Given the description of an element on the screen output the (x, y) to click on. 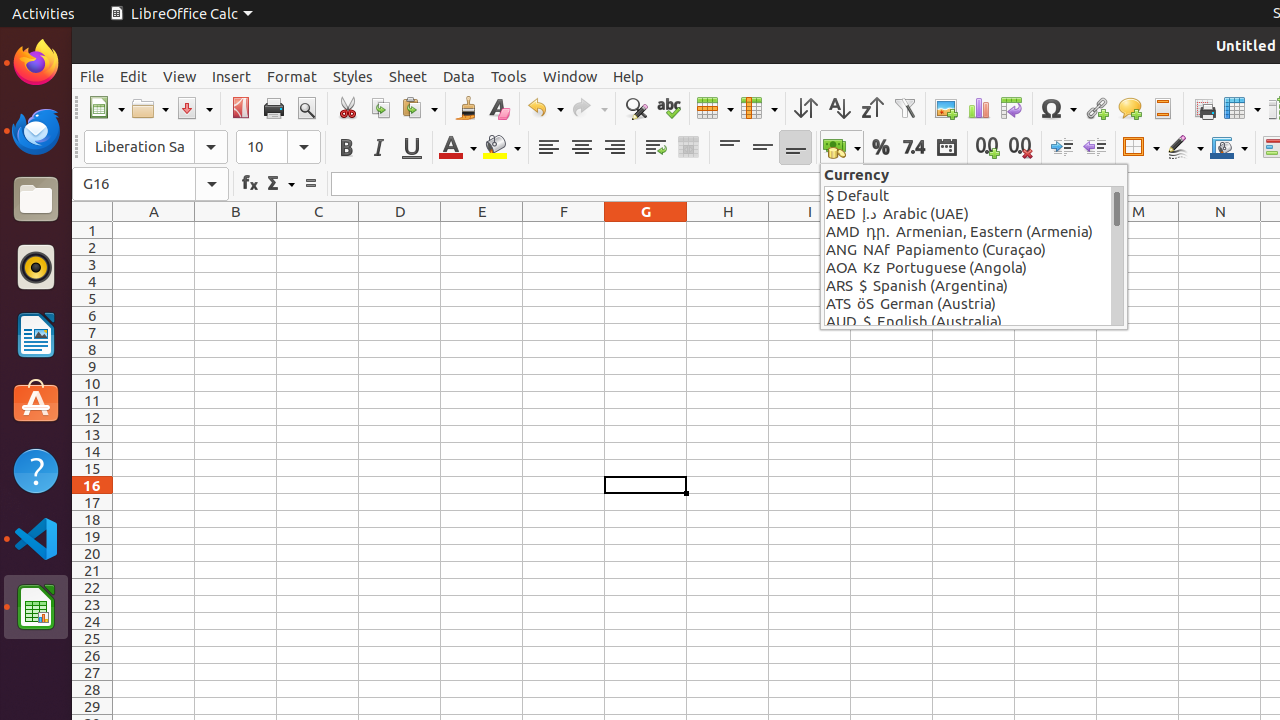
Date Element type: push-button (946, 147)
Bold Element type: toggle-button (345, 147)
Freeze Rows and Columns Element type: push-button (1242, 108)
‪AOA‬  ‪Kz‬  ‪Portuguese (Angola)‬ Element type: list-item (968, 268)
AutoFilter Element type: push-button (904, 108)
